Given the description of an element on the screen output the (x, y) to click on. 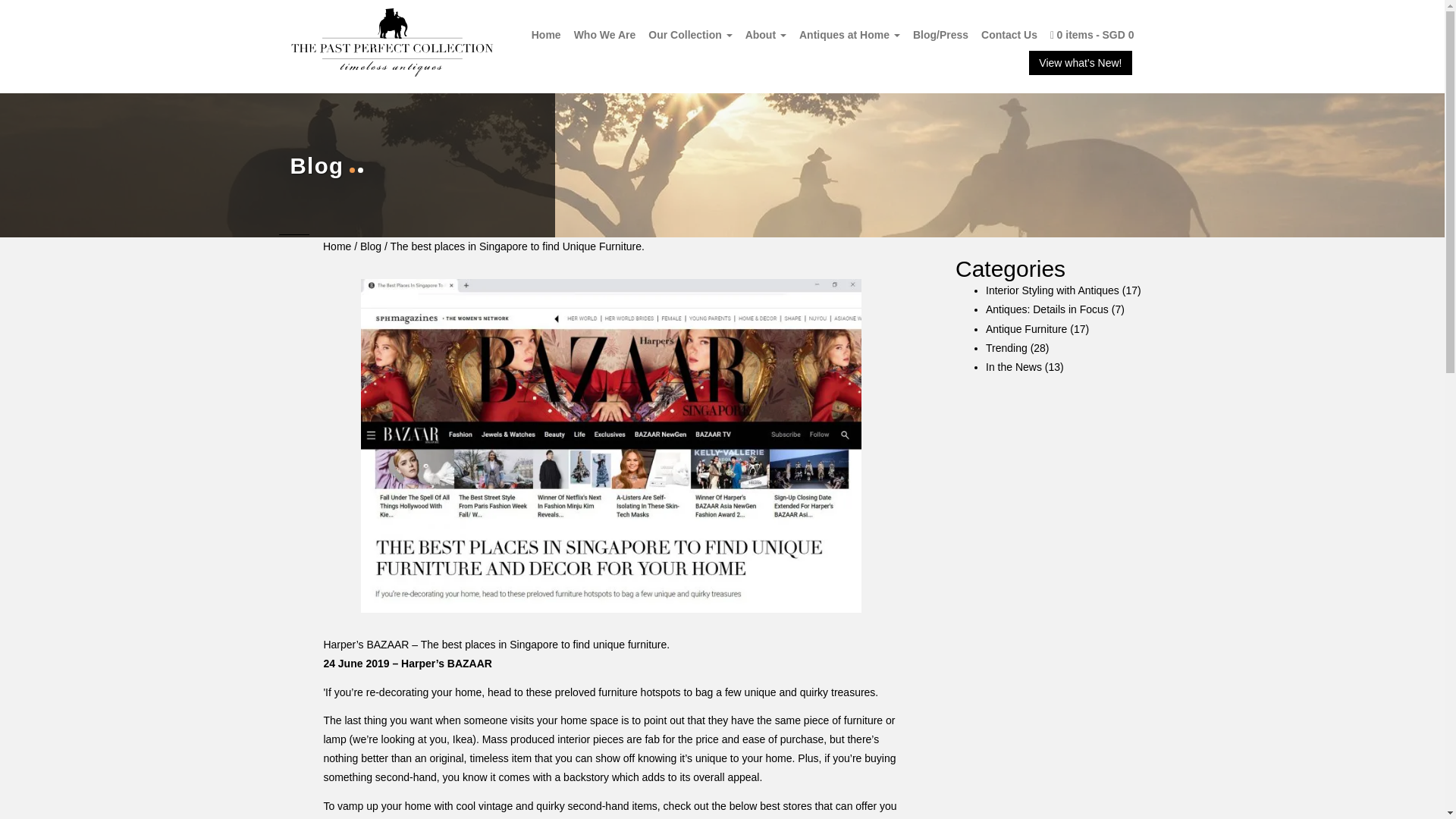
Antiques at Home (849, 34)
Who We Are (604, 34)
Home (546, 34)
Blog (371, 246)
Home (336, 246)
Who We Are (604, 34)
About (765, 34)
Our Collection (690, 34)
Contact Us (1009, 34)
Our Collection (690, 34)
0 itemsSGD 0 (1091, 34)
Home (546, 34)
